Given the description of an element on the screen output the (x, y) to click on. 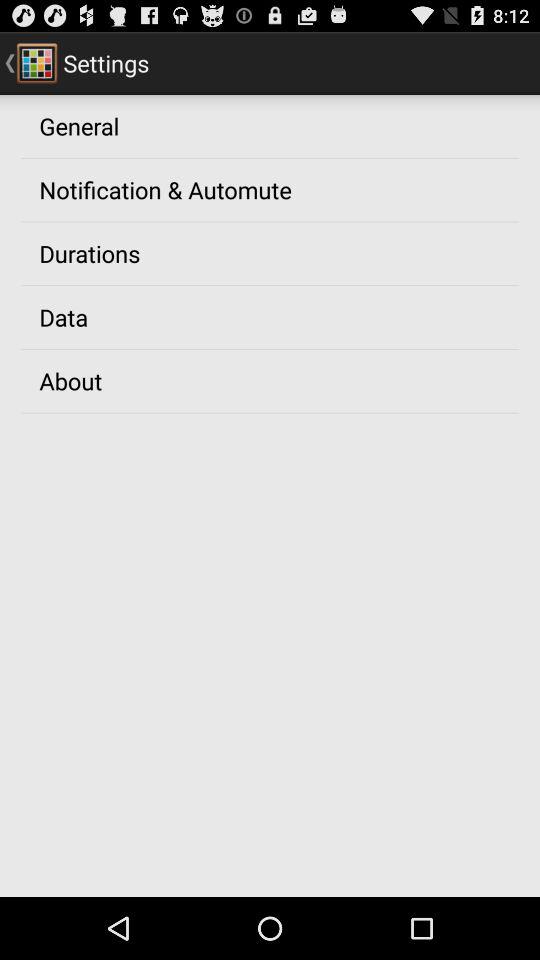
scroll until data icon (63, 317)
